Given the description of an element on the screen output the (x, y) to click on. 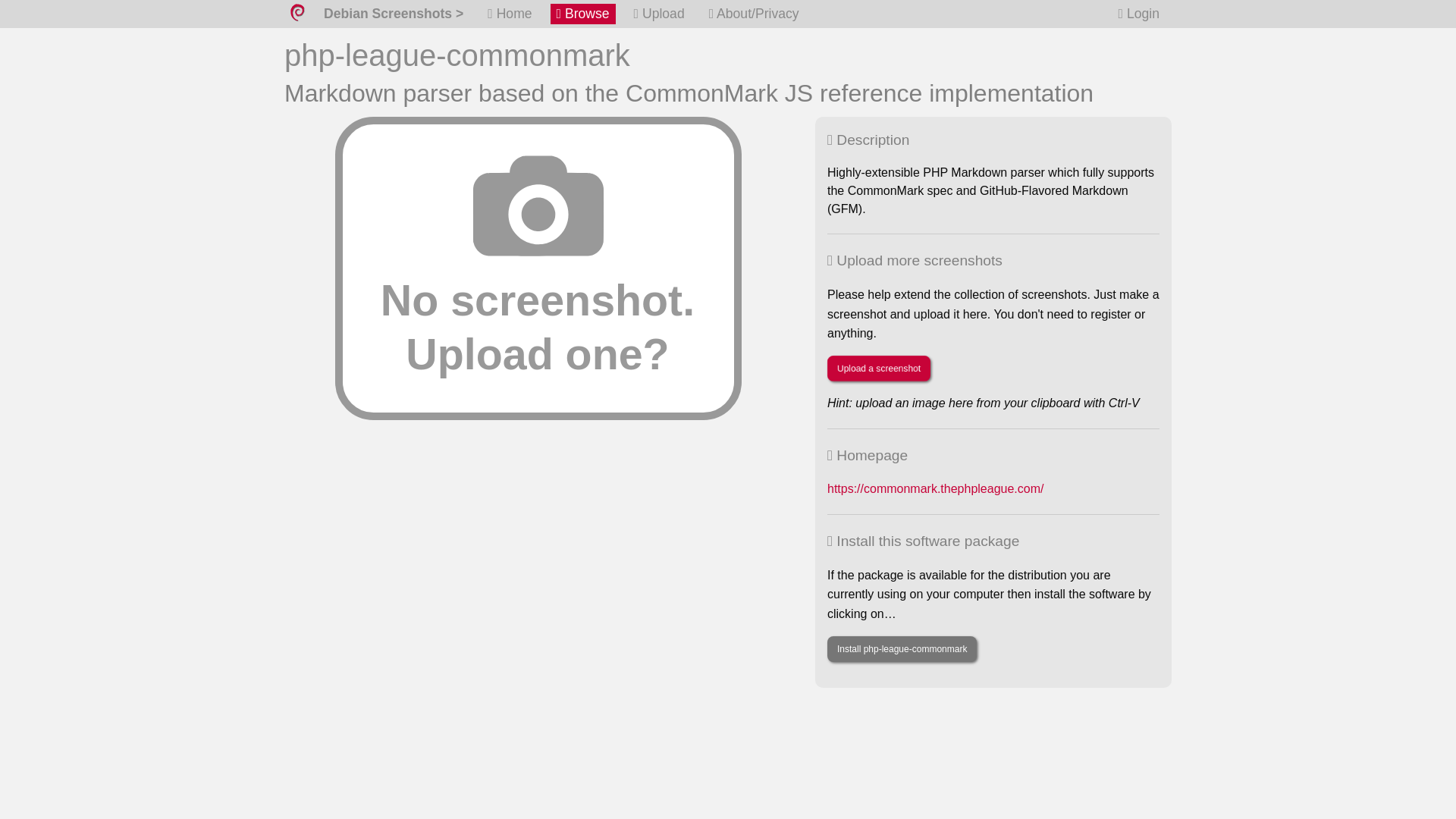
Browse (582, 14)
Upload (658, 14)
Upload a screenshot (878, 368)
Login (1139, 14)
Install php-league-commonmark (901, 648)
Home (509, 14)
